Given the description of an element on the screen output the (x, y) to click on. 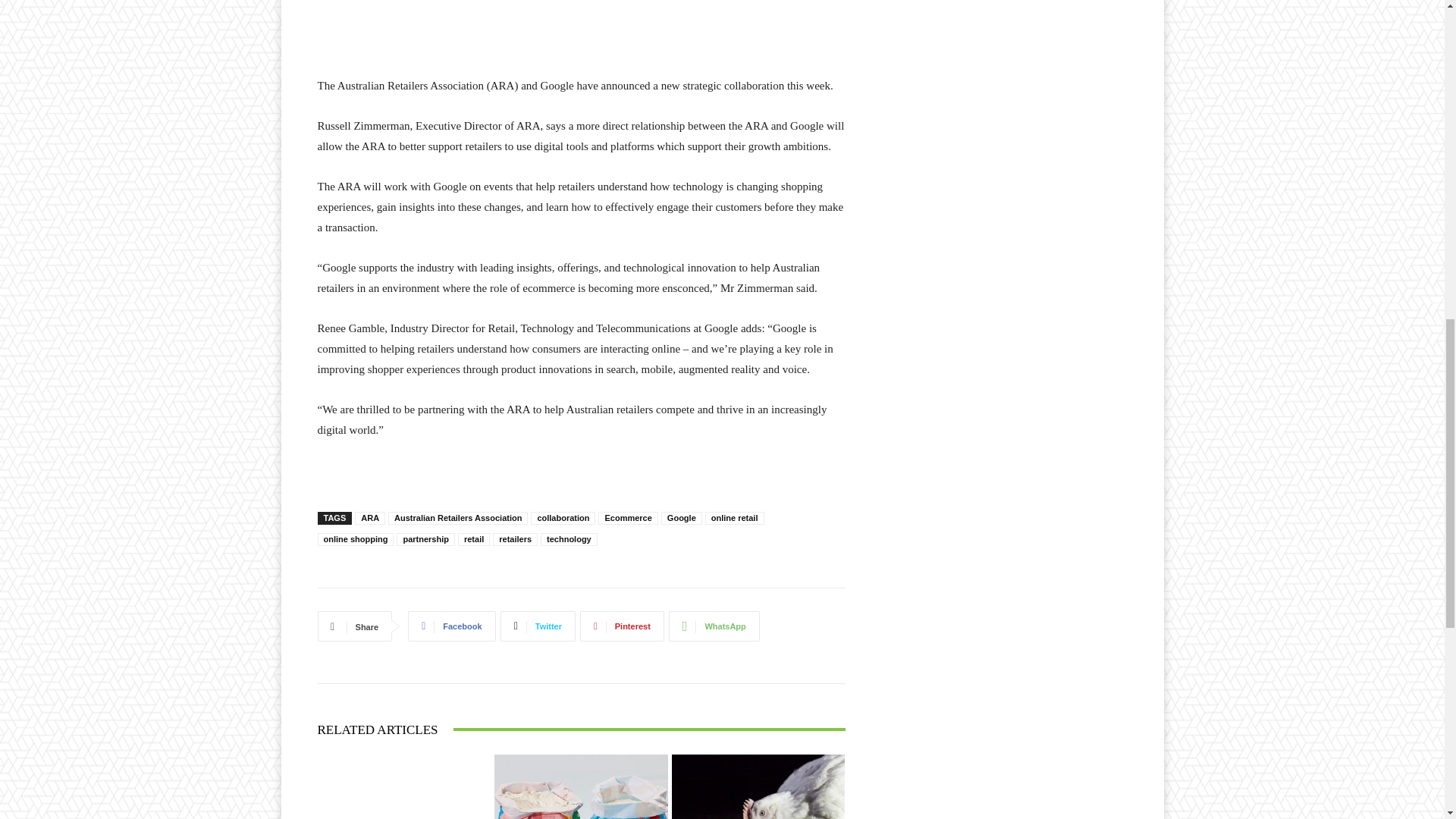
ARA logo (580, 9)
Facebook (451, 625)
Twitter (537, 625)
